Given the description of an element on the screen output the (x, y) to click on. 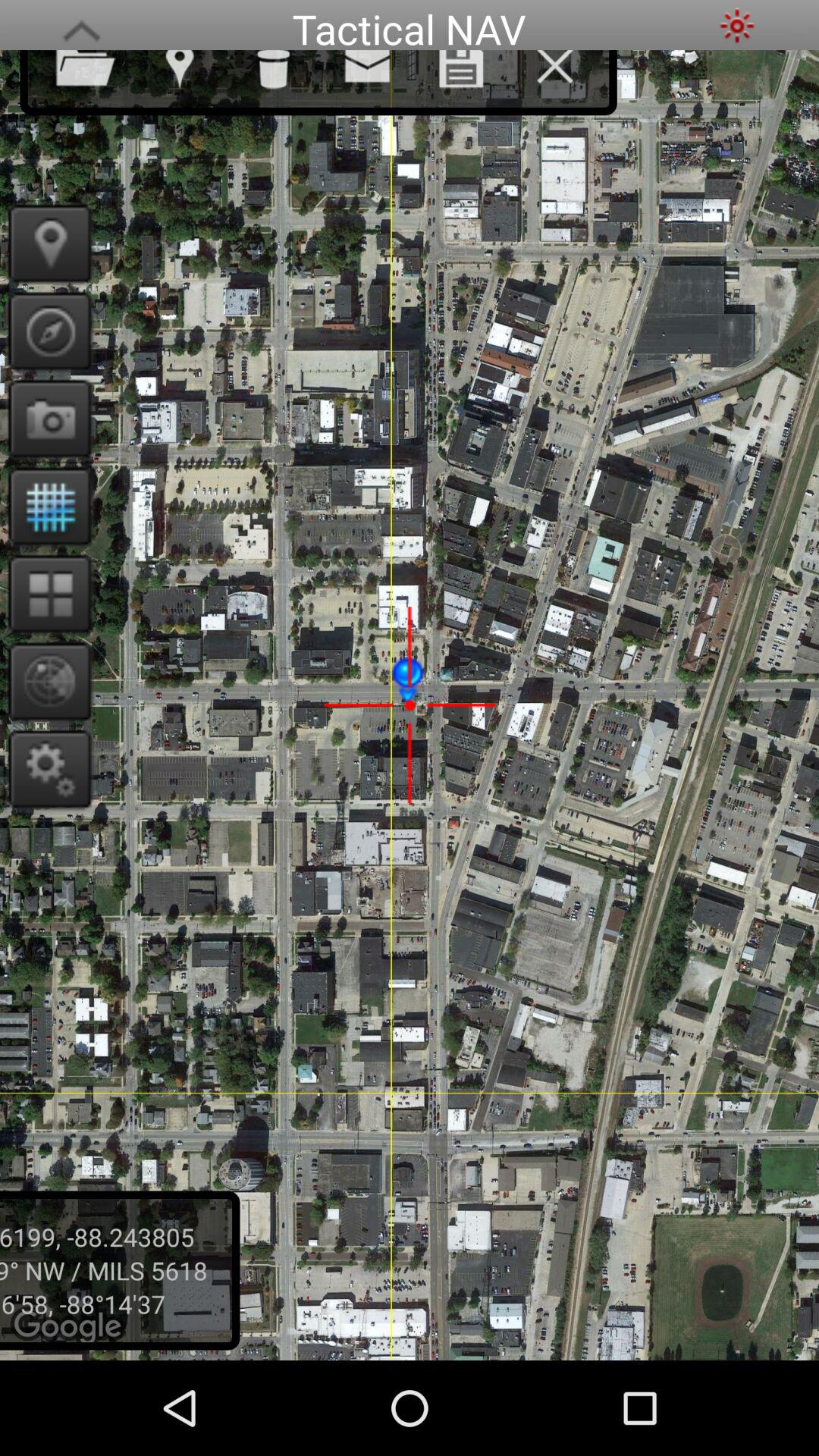
grid view (45, 593)
